Given the description of an element on the screen output the (x, y) to click on. 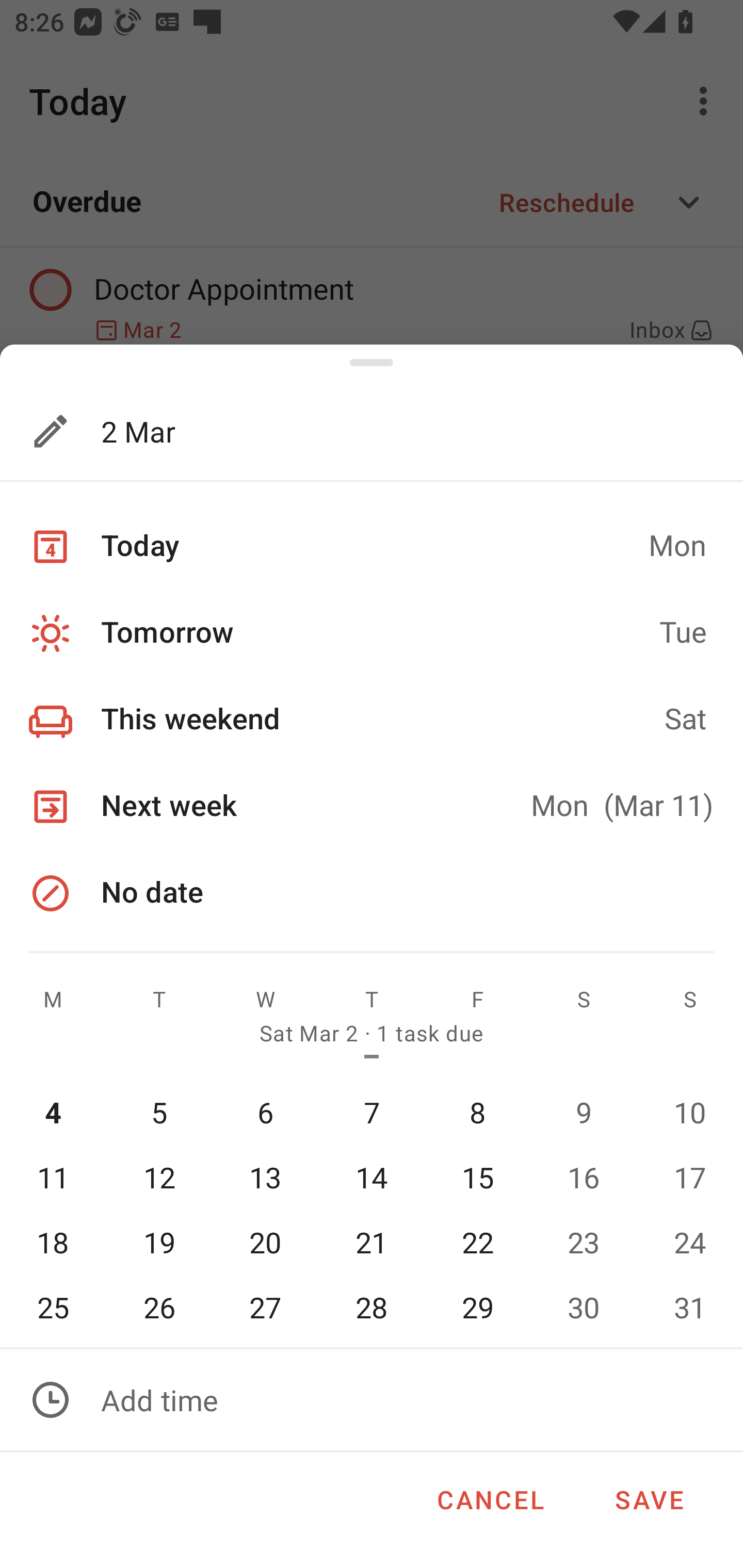
2 Mar (334, 431)
Today Mon  (371, 546)
Tomorrow Tue  (371, 633)
This weekend Sat  (371, 720)
Next week Mon  (Mar 11) (371, 806)
No date (371, 892)
Add time (371, 1400)
CANCEL (489, 1495)
SAVE (648, 1495)
